Given the description of an element on the screen output the (x, y) to click on. 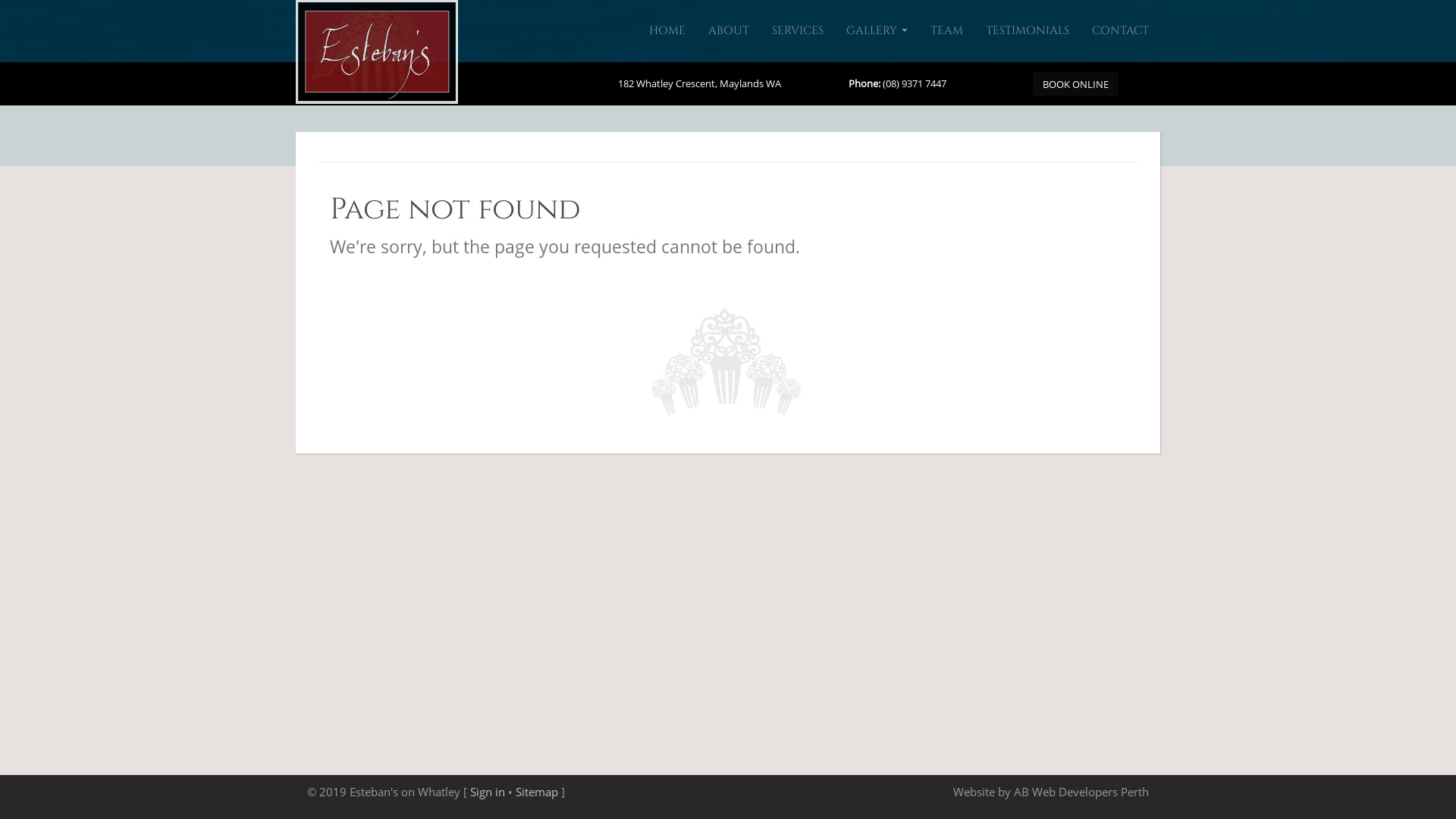
SERVICES Element type: text (797, 31)
CONTACT Element type: text (1120, 31)
GALLERY Element type: text (876, 31)
TEAM Element type: text (946, 31)
Sitemap Element type: text (536, 791)
ABOUT Element type: text (728, 31)
BOOK ONLINE Element type: text (1075, 84)
Sign in Element type: text (487, 791)
TESTIMONIALS Element type: text (1027, 31)
HOME Element type: text (666, 31)
